Given the description of an element on the screen output the (x, y) to click on. 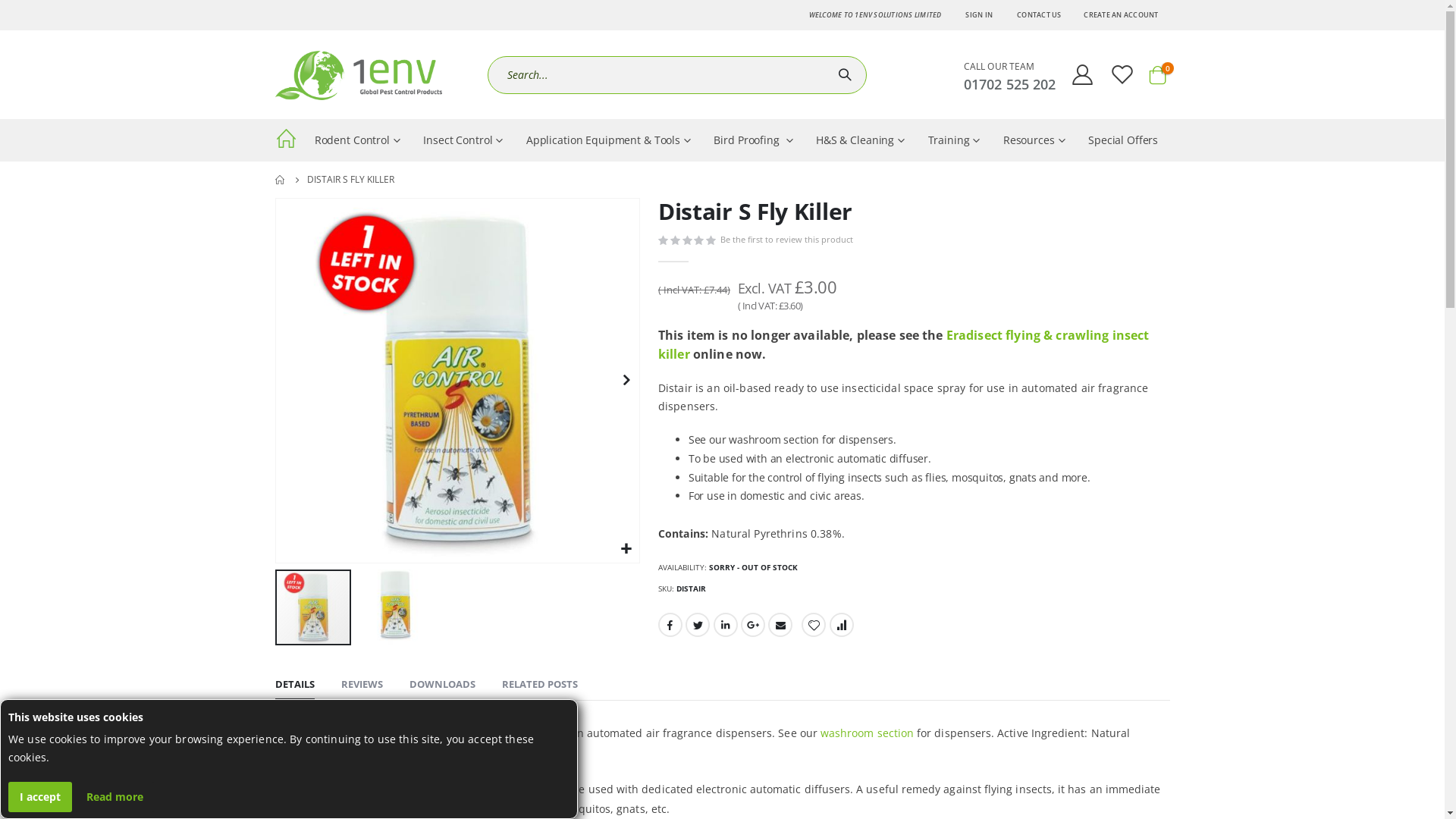
Facebook Element type: text (670, 624)
Google + Element type: text (752, 624)
Basket
0 Element type: text (1157, 74)
Eradisect flying & crawling insect killer Element type: text (903, 344)
CREATE AN ACCOUNT Element type: text (1120, 15)
HOME Element type: text (279, 179)
Insect Control Element type: text (462, 140)
I accept Element type: text (40, 796)
Be the first to review this product Element type: text (789, 238)
SIGN IN Element type: text (978, 15)
Resources Element type: text (1033, 140)
DOWNLOADS Element type: text (442, 683)
My Account Element type: hover (1082, 74)
Email Element type: text (780, 624)
LinkedIn Element type: text (724, 624)
REVIEWS Element type: text (361, 683)
Twitter Element type: text (697, 624)
DETAILS Element type: text (293, 683)
H&S & Cleaning Element type: text (860, 140)
CONTACT US Element type: text (1038, 15)
  Element type: text (288, 140)
Bird Proofing Element type: text (753, 140)
washroom section Element type: text (866, 732)
Special Offers Element type: text (1123, 140)
Rodent Control Element type: text (357, 140)
RELATED POSTS Element type: text (539, 683)
Application Equipment & Tools Element type: text (608, 140)
Read more Element type: text (114, 796)
Training Element type: text (953, 140)
1env Solutions Limited - Pest Control Product Supplier Element type: hover (369, 74)
Search Element type: hover (846, 74)
My Favourites Element type: hover (1122, 73)
